Given the description of an element on the screen output the (x, y) to click on. 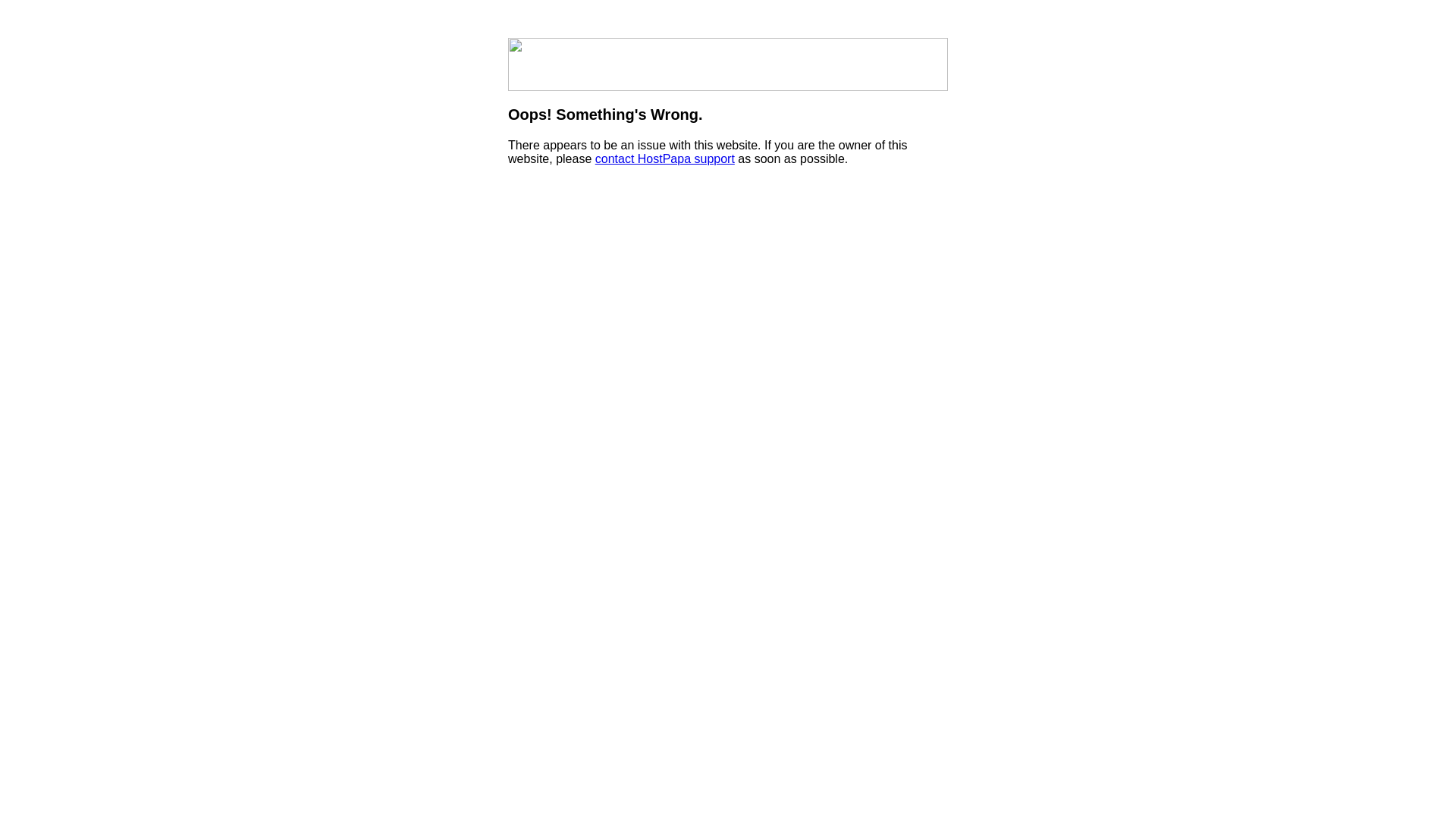
contact HostPapa support Element type: text (664, 158)
